Given the description of an element on the screen output the (x, y) to click on. 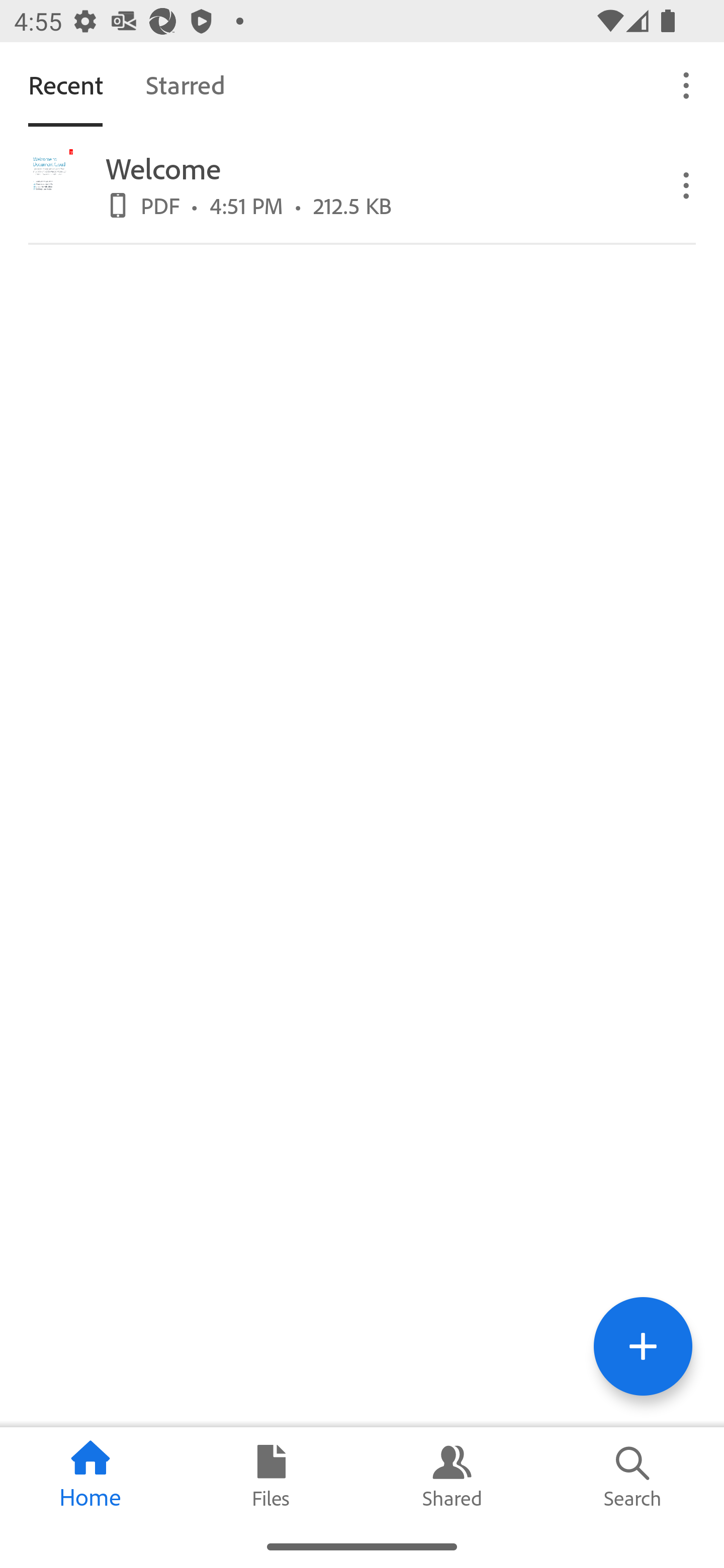
Recent (65, 84)
Starred (185, 84)
Overflow (687, 84)
Overflow (687, 184)
Tools (642, 1345)
Home (90, 1475)
Files (271, 1475)
Shared (452, 1475)
Search (633, 1475)
